Given the description of an element on the screen output the (x, y) to click on. 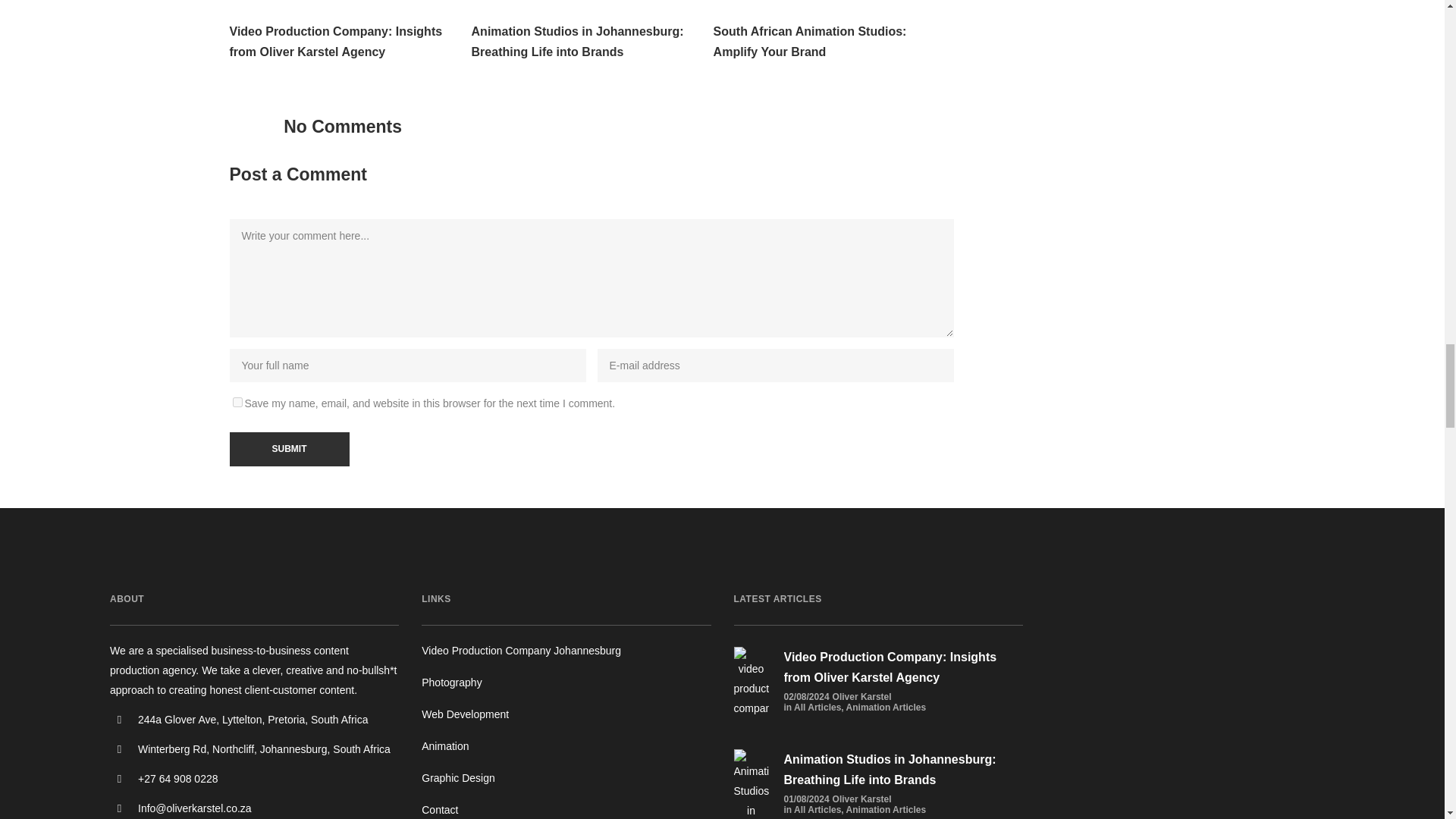
yes (236, 402)
South African Animation Studios: Amplify Your Brand (833, 41)
Submit (288, 449)
